Given the description of an element on the screen output the (x, y) to click on. 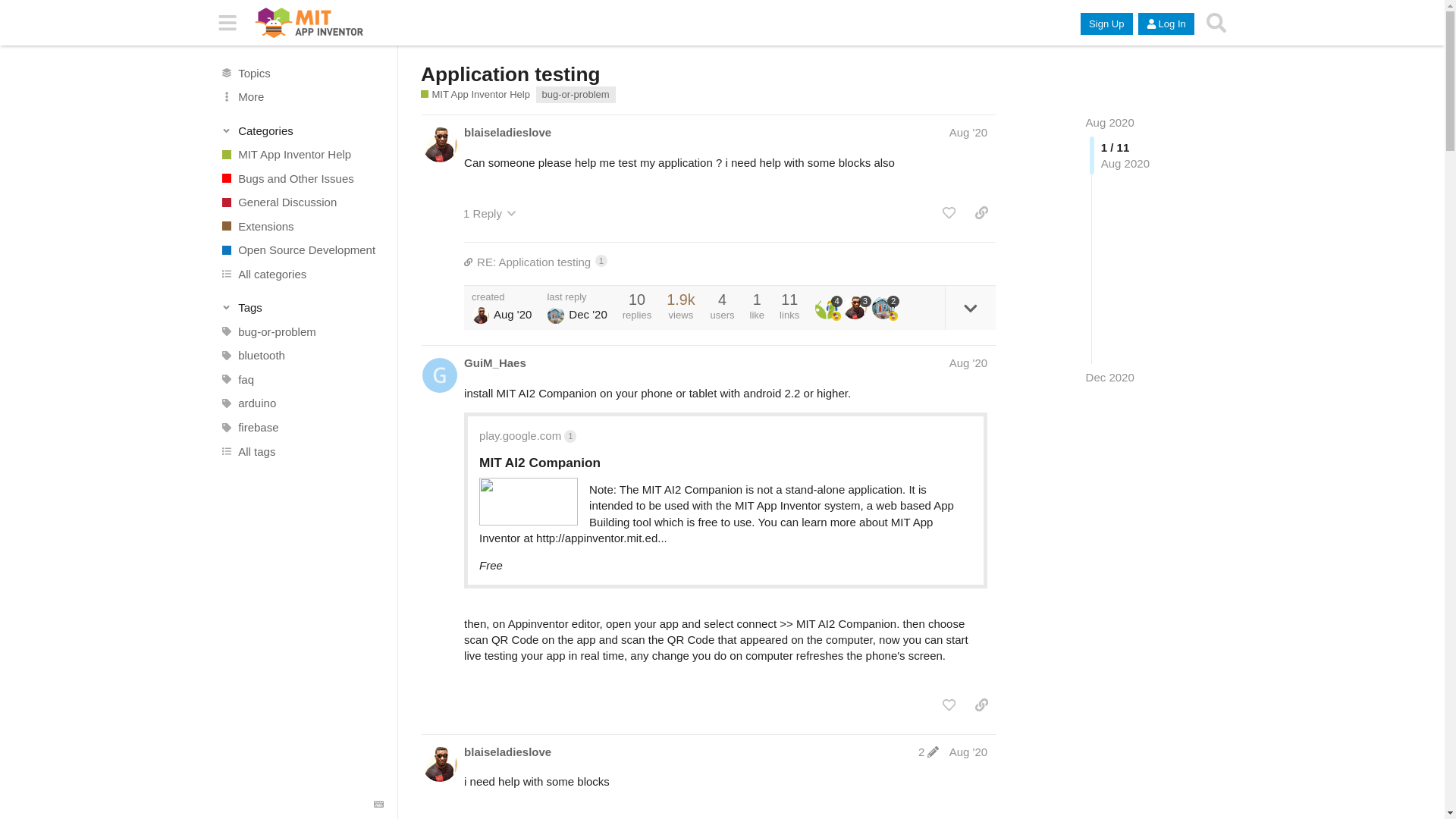
More (301, 96)
All tags (301, 450)
MIT App Inventor Help (301, 154)
All categories (301, 274)
Aug 2020 (1110, 122)
General Discussion (729, 261)
Extensions (301, 202)
Search (301, 225)
Toggle section (1215, 22)
Sidebar (301, 307)
MIT App Inventor Help (227, 22)
Application testing (474, 94)
